Given the description of an element on the screen output the (x, y) to click on. 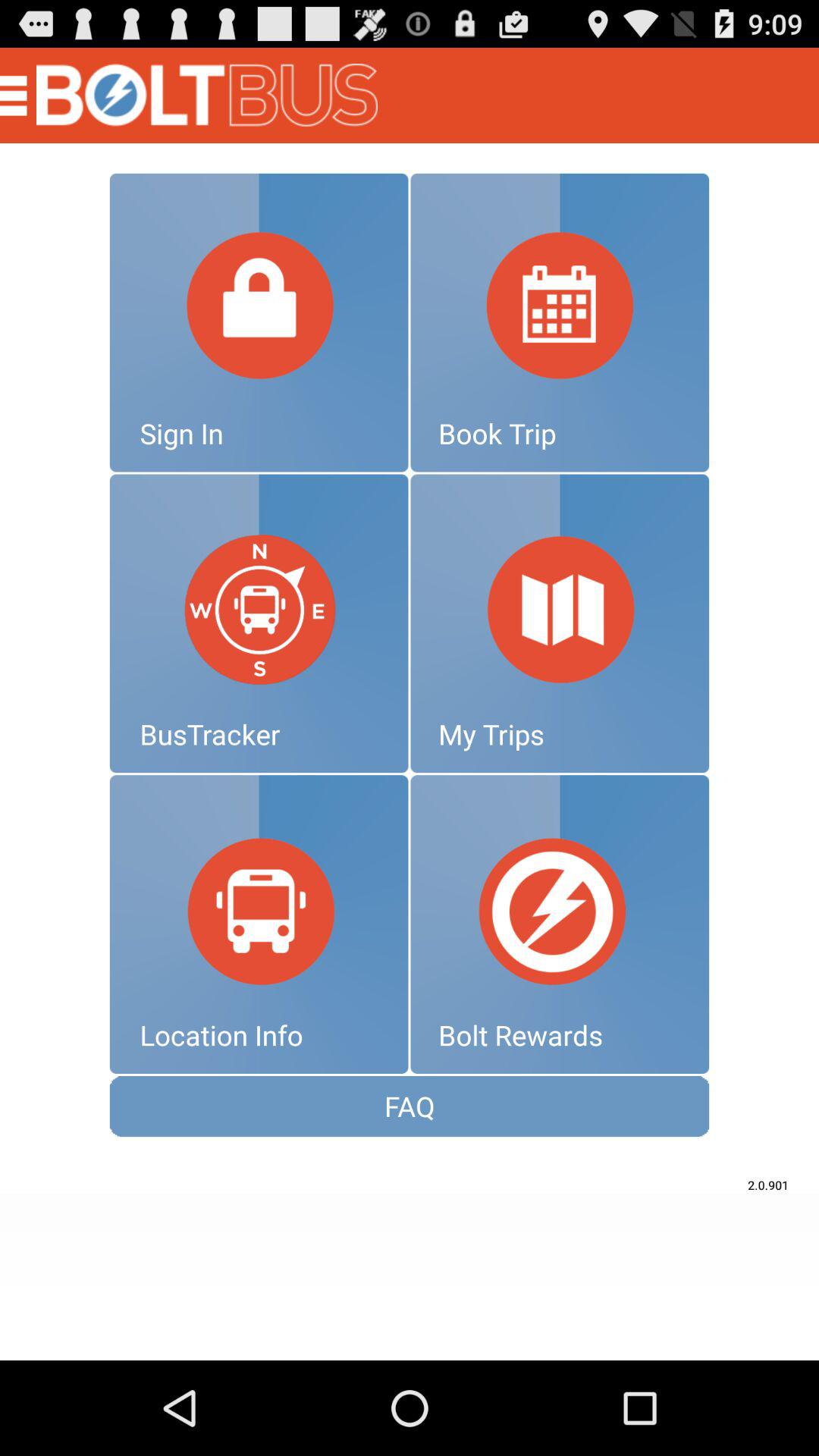
bolt rewards (559, 924)
